Given the description of an element on the screen output the (x, y) to click on. 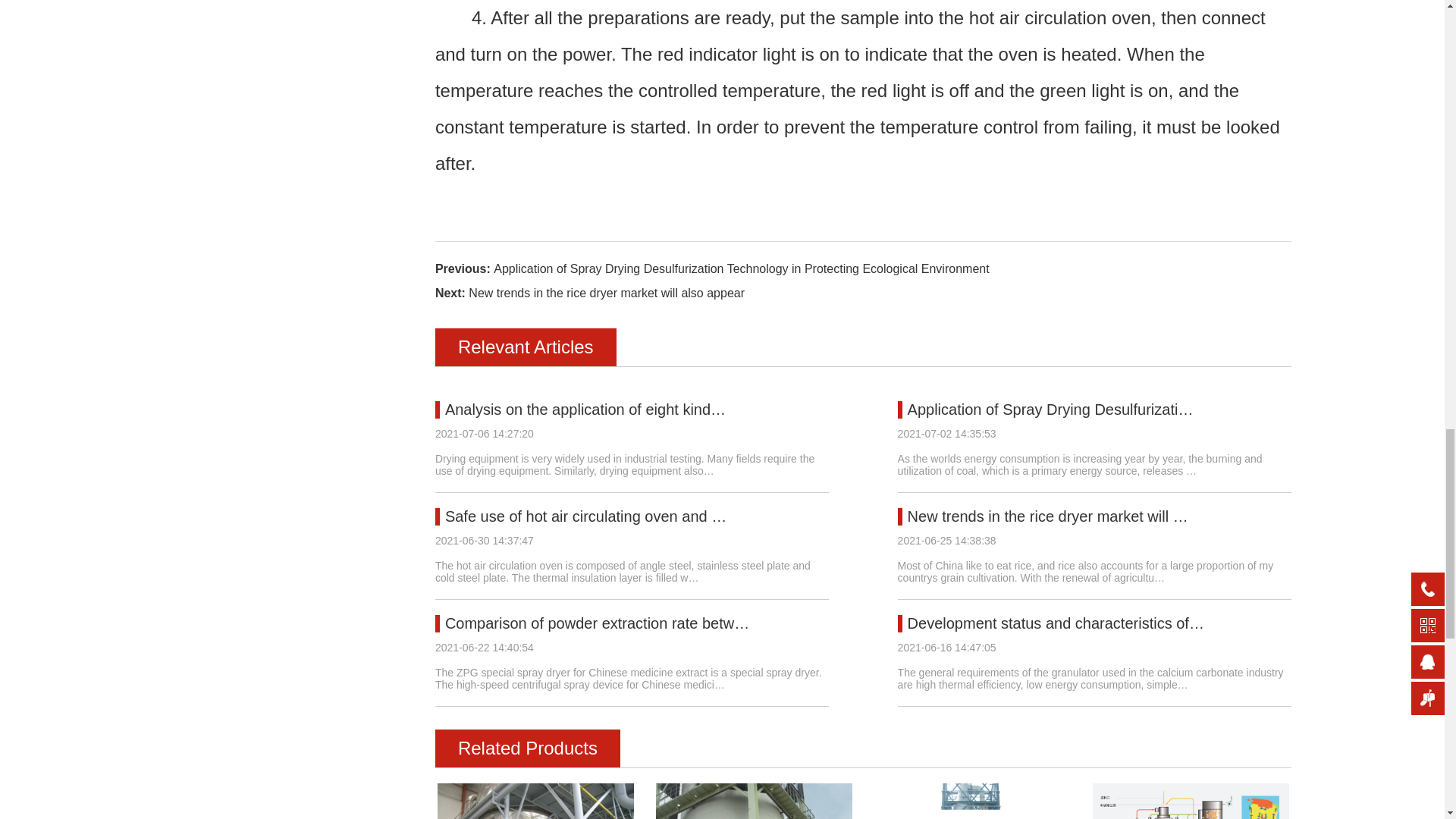
New trends in the rice dryer market will also appear (606, 292)
New trends in the rice dryer market will also appear (1047, 515)
